Given the description of an element on the screen output the (x, y) to click on. 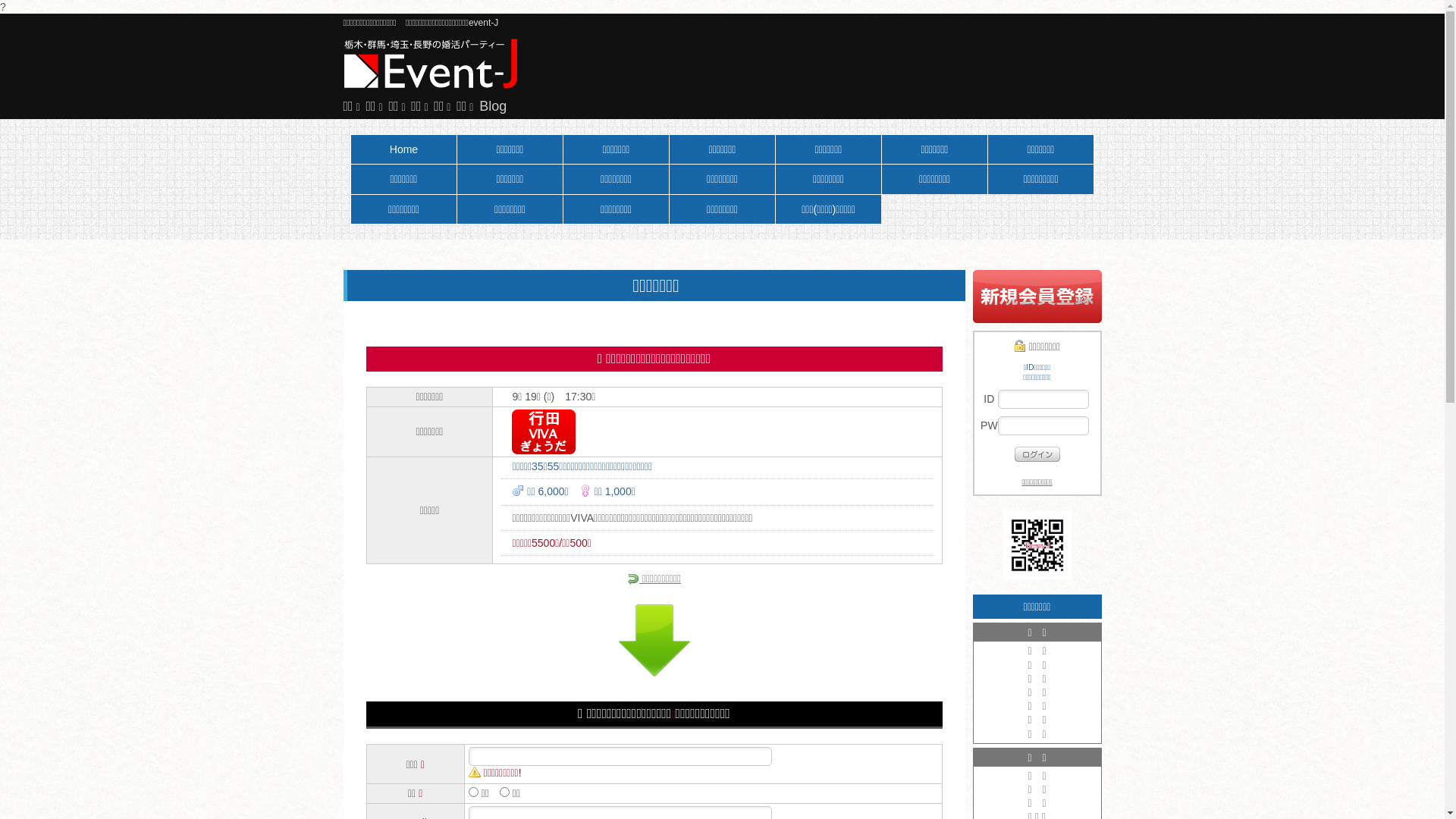
Home Element type: text (403, 148)
Blog Element type: text (492, 105)
